Given the description of an element on the screen output the (x, y) to click on. 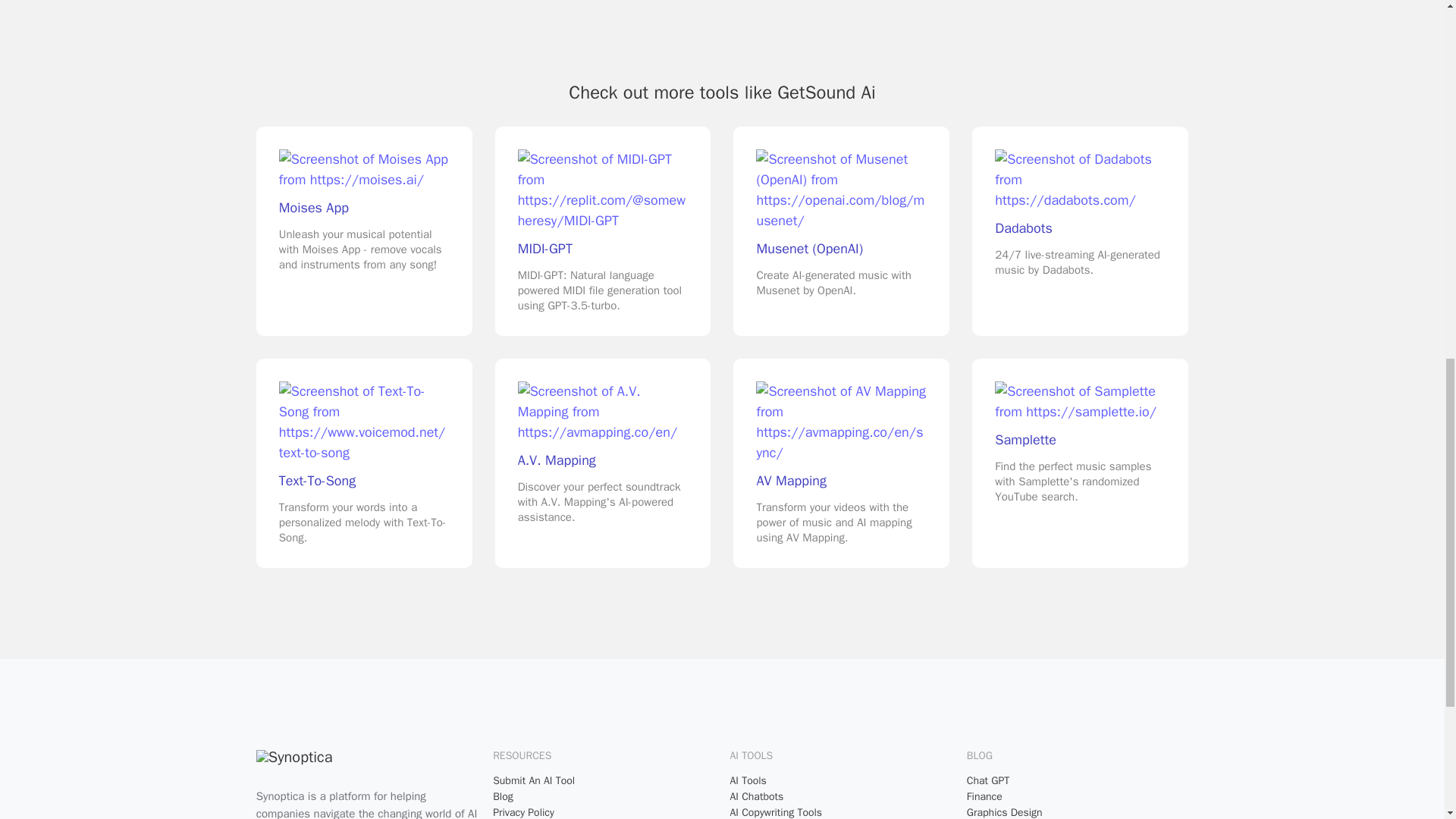
Submit An AI Tool (603, 780)
Privacy Policy (603, 811)
Blog (603, 796)
